Given the description of an element on the screen output the (x, y) to click on. 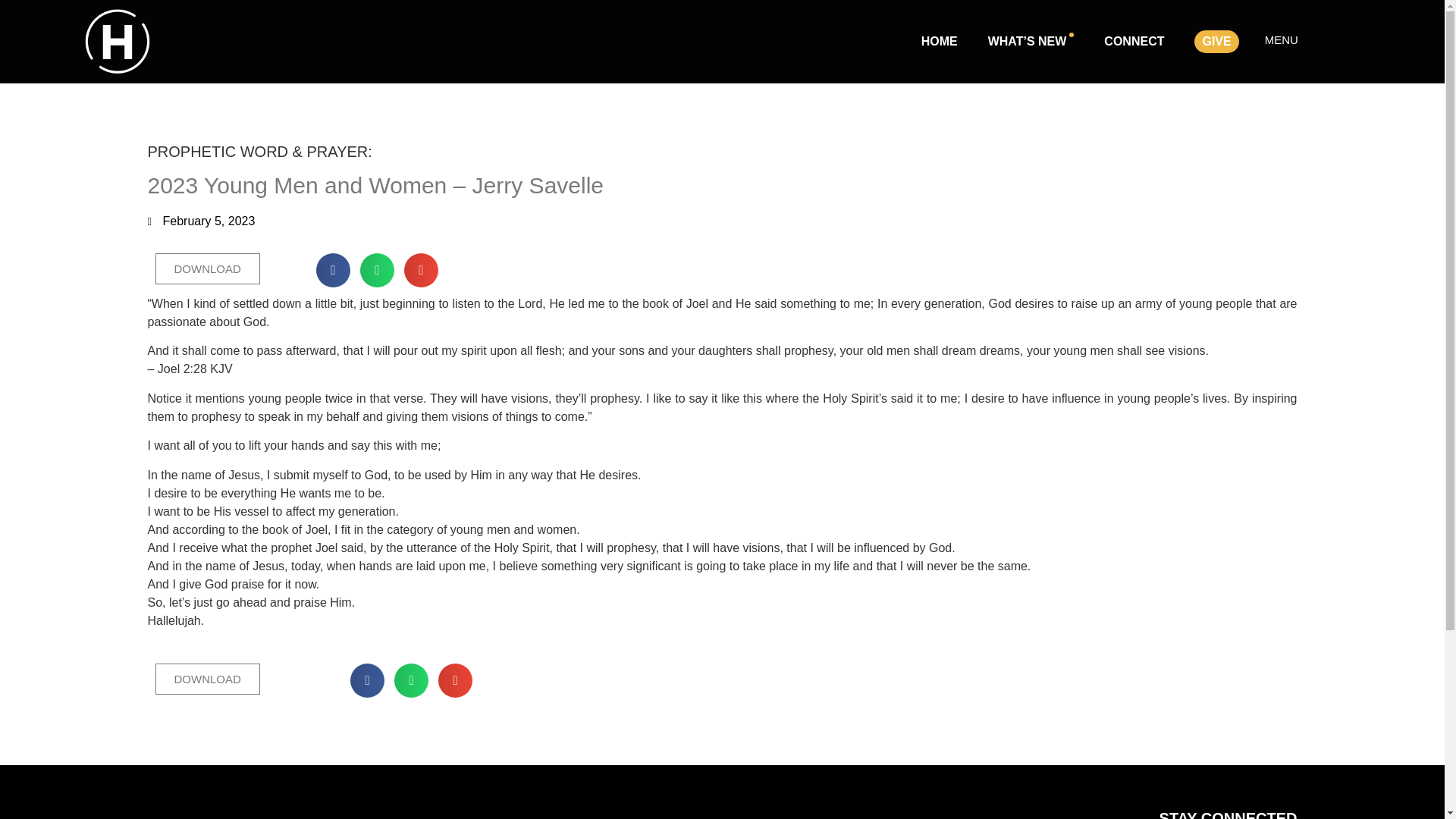
GIVE (1216, 41)
DOWNLOAD (206, 679)
DOWNLOAD (206, 269)
February 5, 2023 (200, 221)
CONNECT (1134, 41)
MENU (1281, 39)
HOME (938, 41)
